Given the description of an element on the screen output the (x, y) to click on. 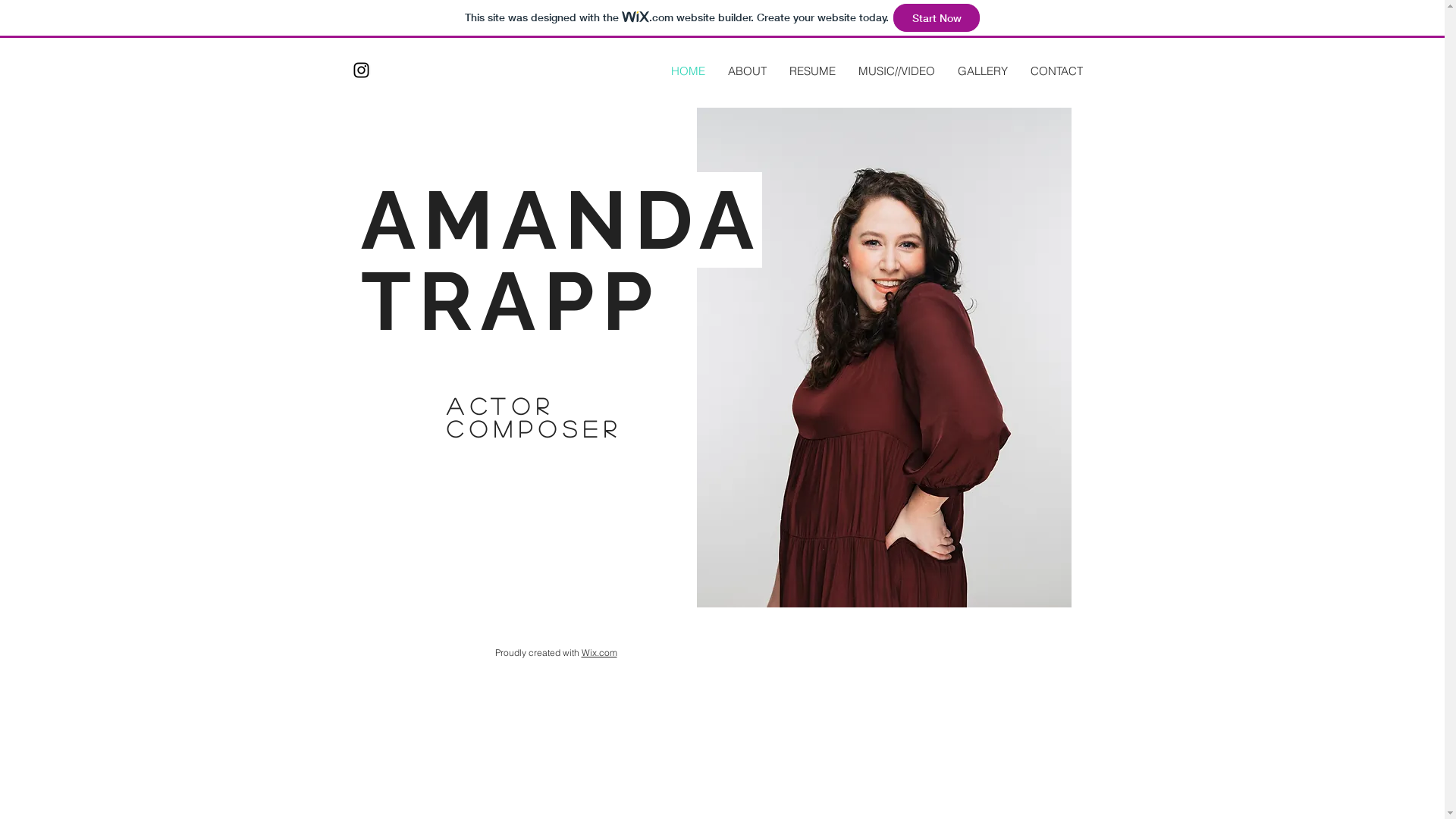
Wix.com Element type: text (598, 652)
RESUME Element type: text (812, 70)
actor
composer Element type: text (533, 416)
GALLERY Element type: text (982, 70)
CONTACT Element type: text (1056, 70)
MUSIC//VIDEO Element type: text (895, 70)
HOME Element type: text (687, 70)
ABOUT Element type: text (746, 70)
